Given the description of an element on the screen output the (x, y) to click on. 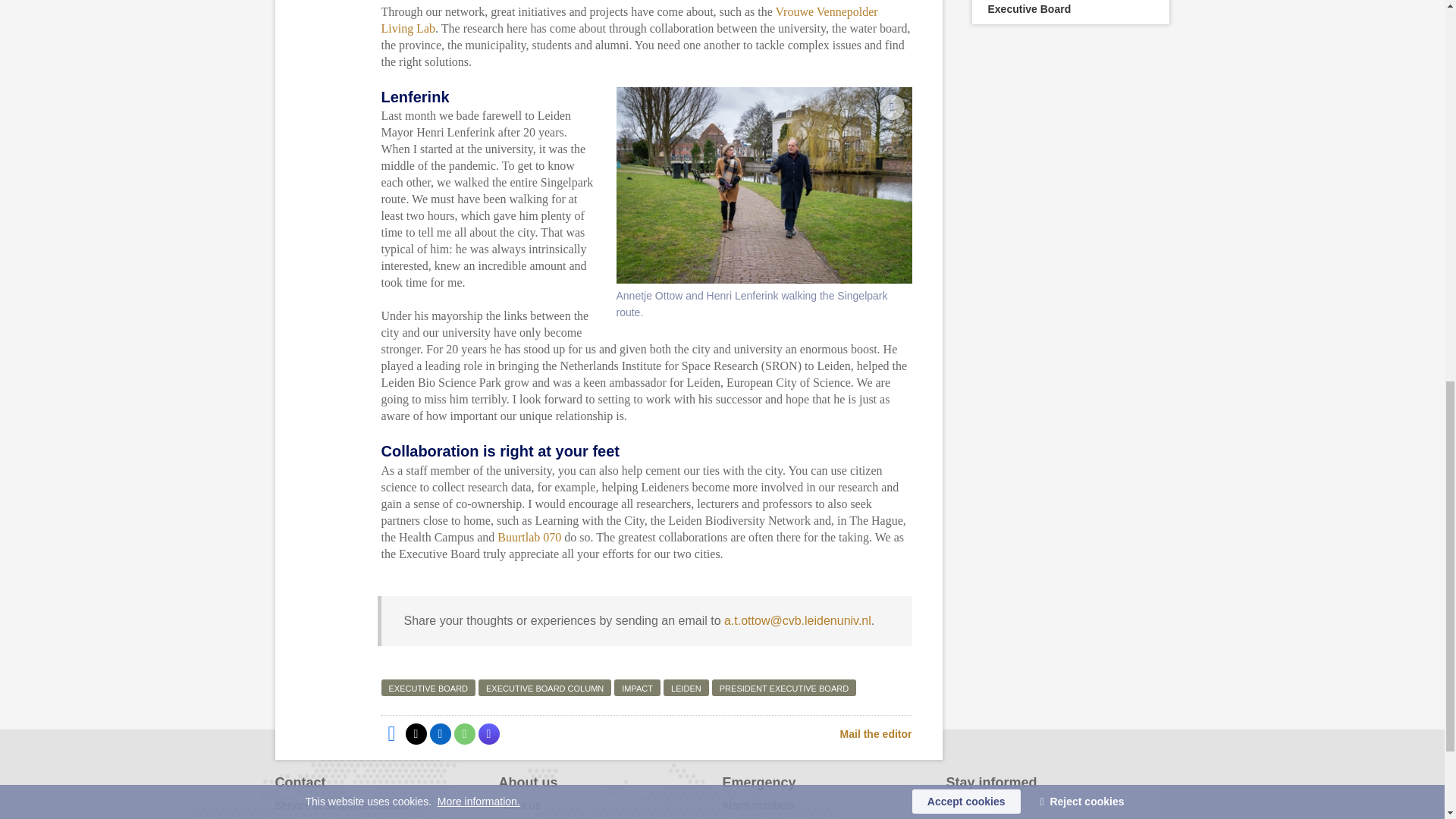
Share on Facebook (390, 733)
Share by WhatsApp (463, 733)
Share on LinkedIn (439, 733)
Share by Mastodon (488, 733)
Share on X (415, 733)
